Given the description of an element on the screen output the (x, y) to click on. 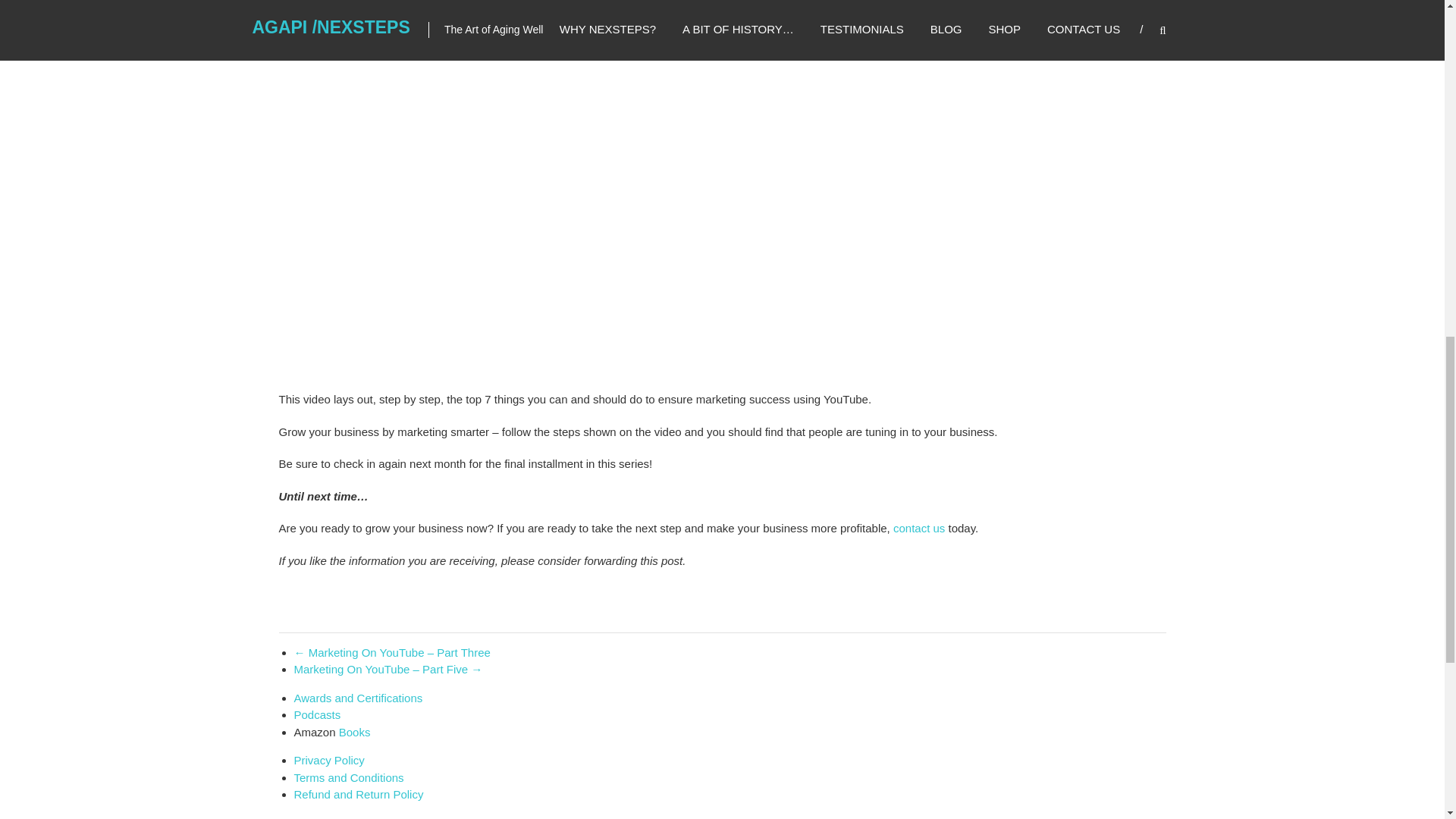
Awards and Certifications (358, 697)
Podcasts (317, 714)
contact us (918, 527)
Terms and Conditions (349, 777)
Privacy Policy (329, 759)
Refund and Return Policy (358, 793)
Books (355, 731)
